Given the description of an element on the screen output the (x, y) to click on. 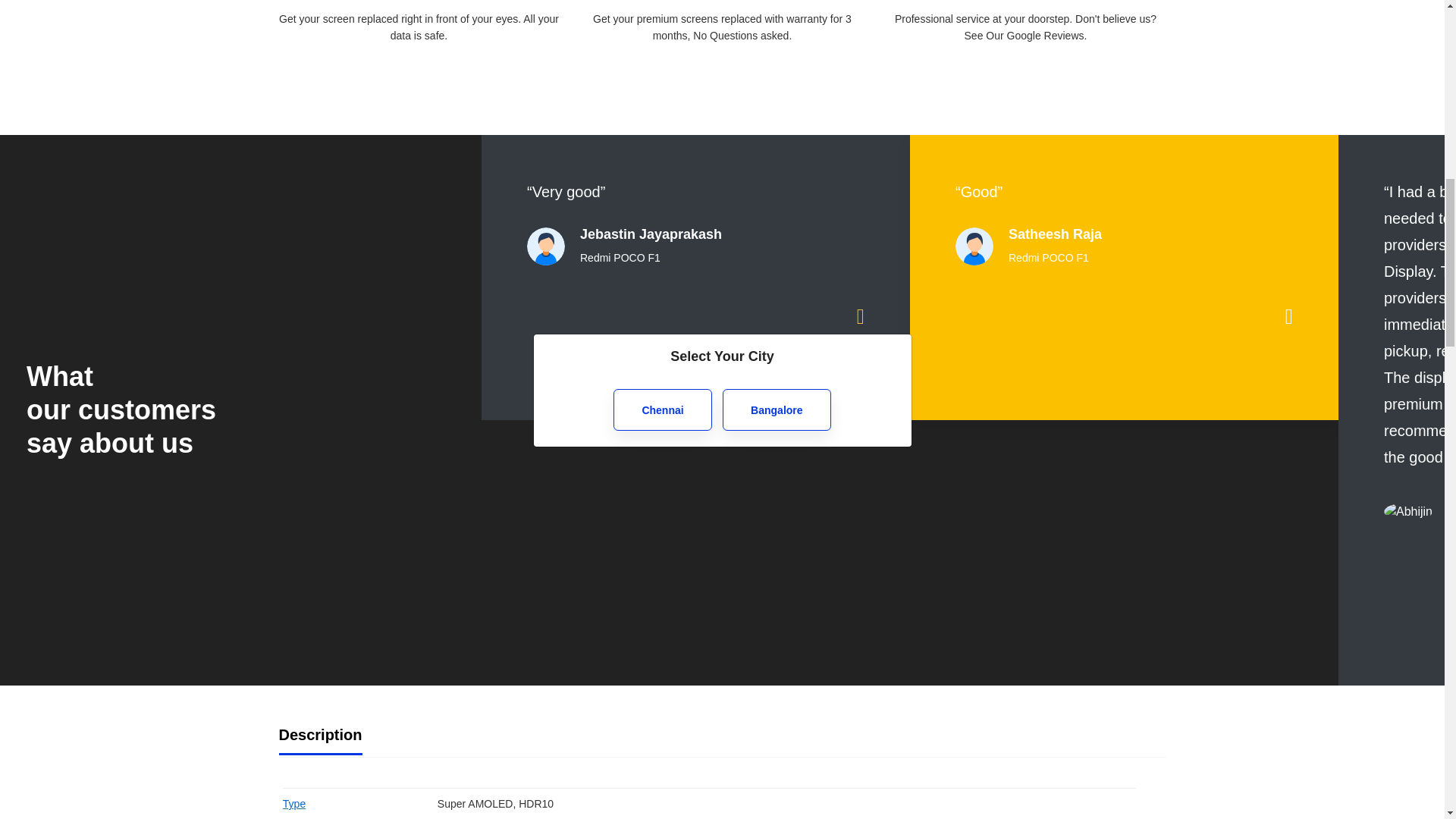
Type (293, 803)
Description (320, 735)
